Given the description of an element on the screen output the (x, y) to click on. 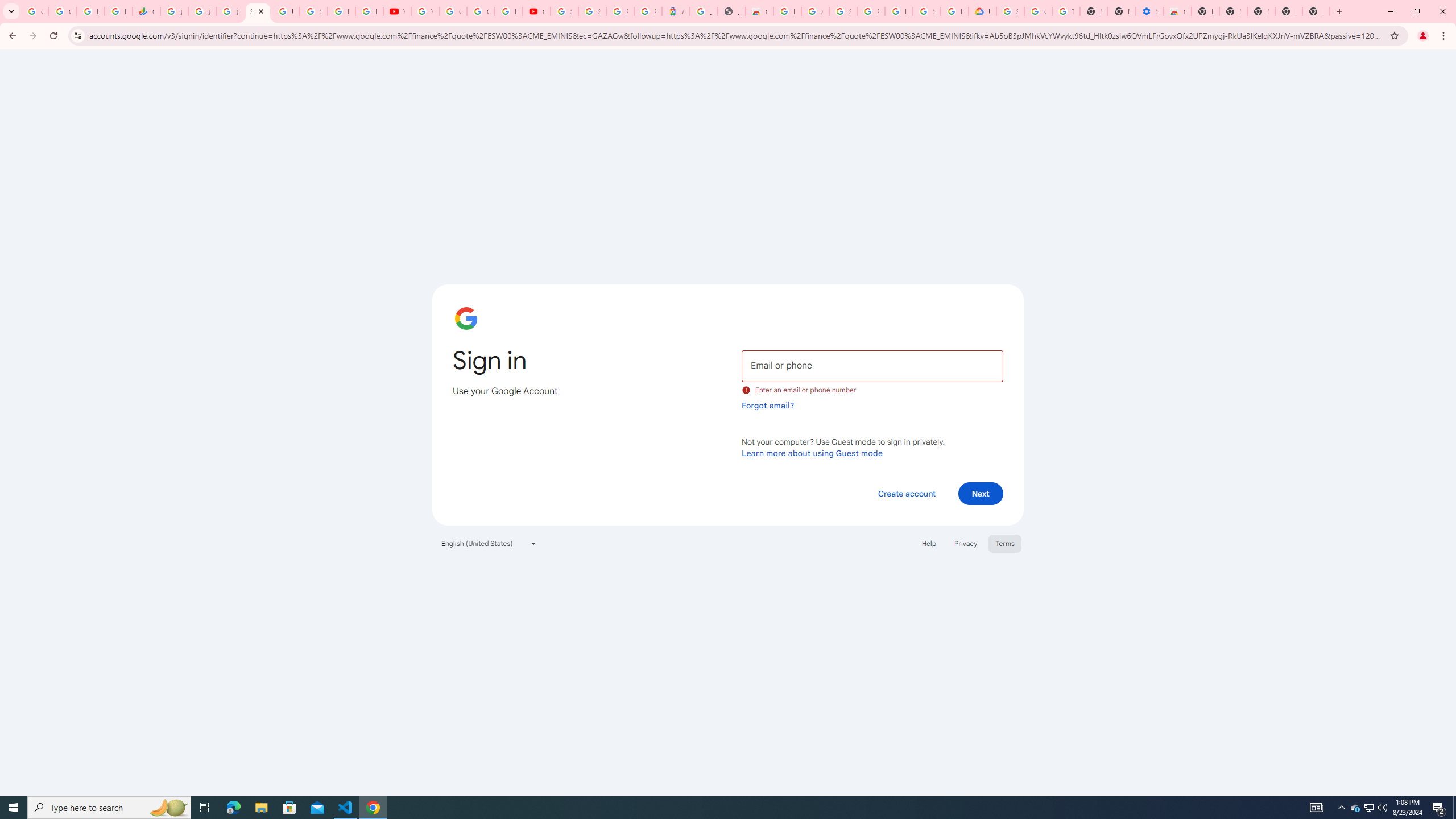
YouTube (425, 11)
Atour Hotel - Google hotels (675, 11)
Sign in - Google Accounts (1010, 11)
